Given the description of an element on the screen output the (x, y) to click on. 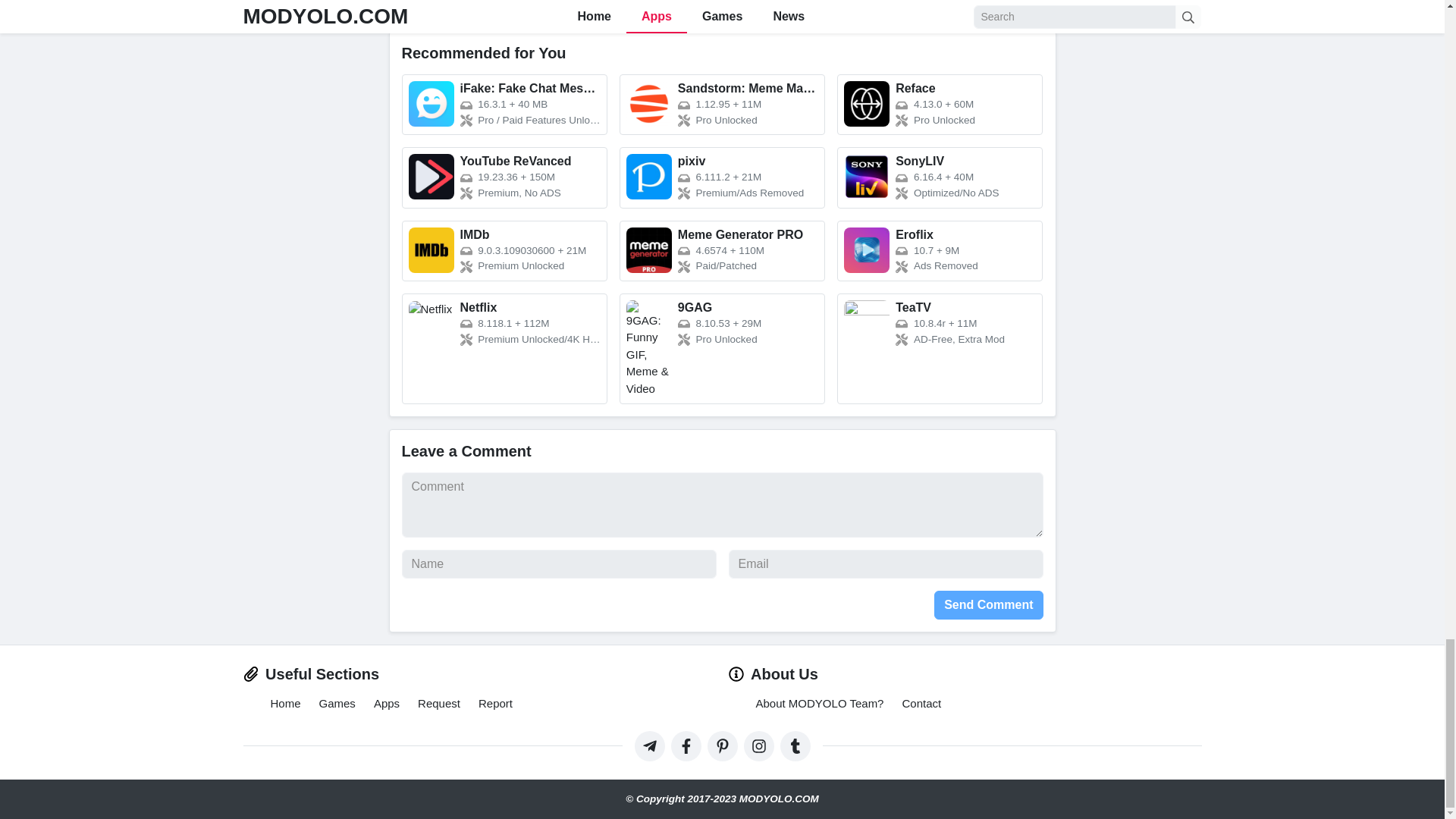
pixiv (722, 177)
Sandstorm: Meme Maker (722, 104)
Bike Unchained 2 (722, 2)
9GAG (722, 348)
YouTube ReVanced (504, 177)
iFake: Fake Chat Messages (504, 104)
Offroad Unchained (504, 2)
Meme Generator PRO (722, 250)
SonyLIV (939, 177)
Netflix (504, 348)
TeaTV (939, 348)
Eroflix (939, 250)
Reface (939, 104)
IMDb (504, 250)
